Given the description of an element on the screen output the (x, y) to click on. 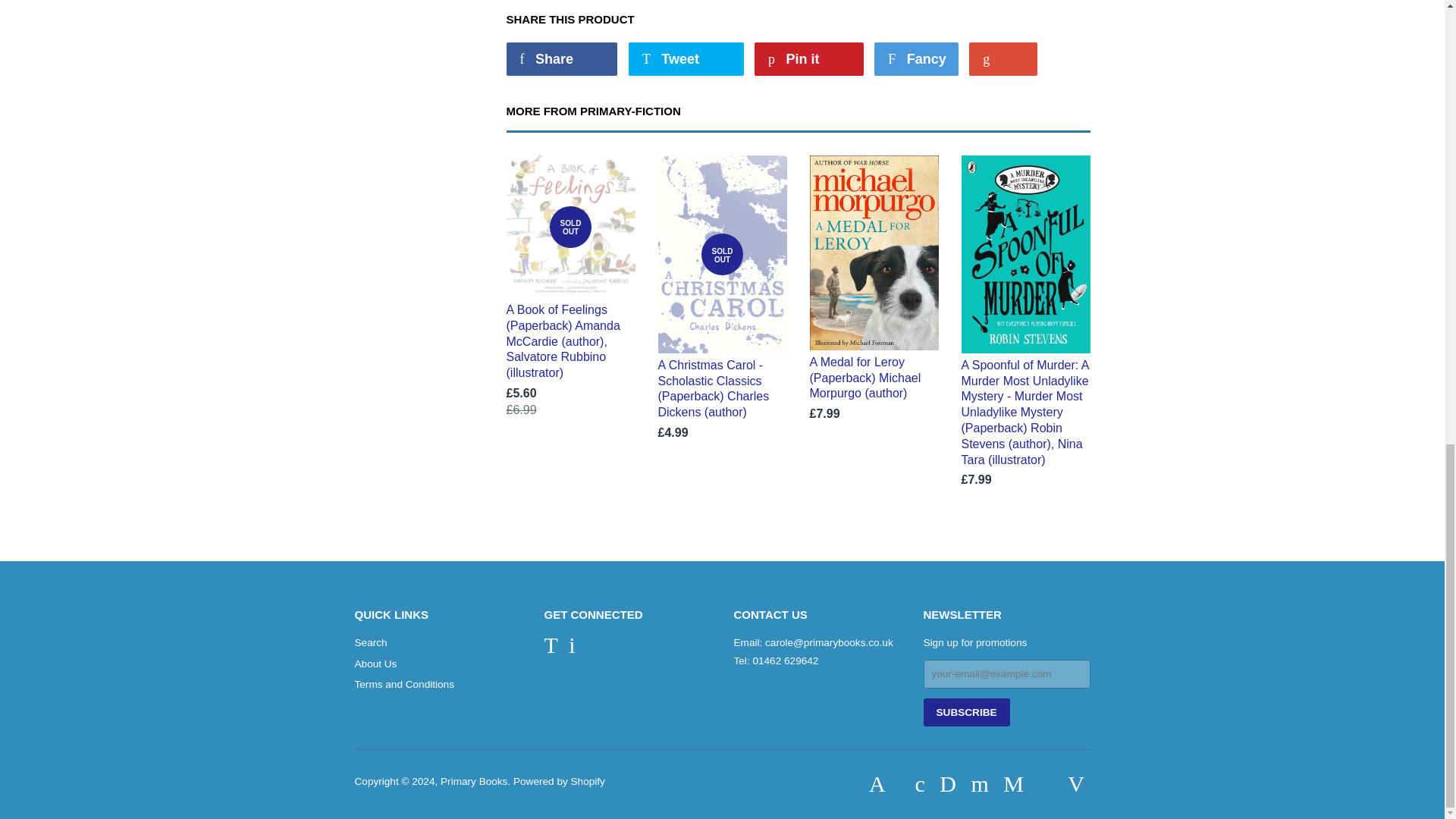
Subscribe (966, 712)
Primary Books on Twitter (550, 649)
